Given the description of an element on the screen output the (x, y) to click on. 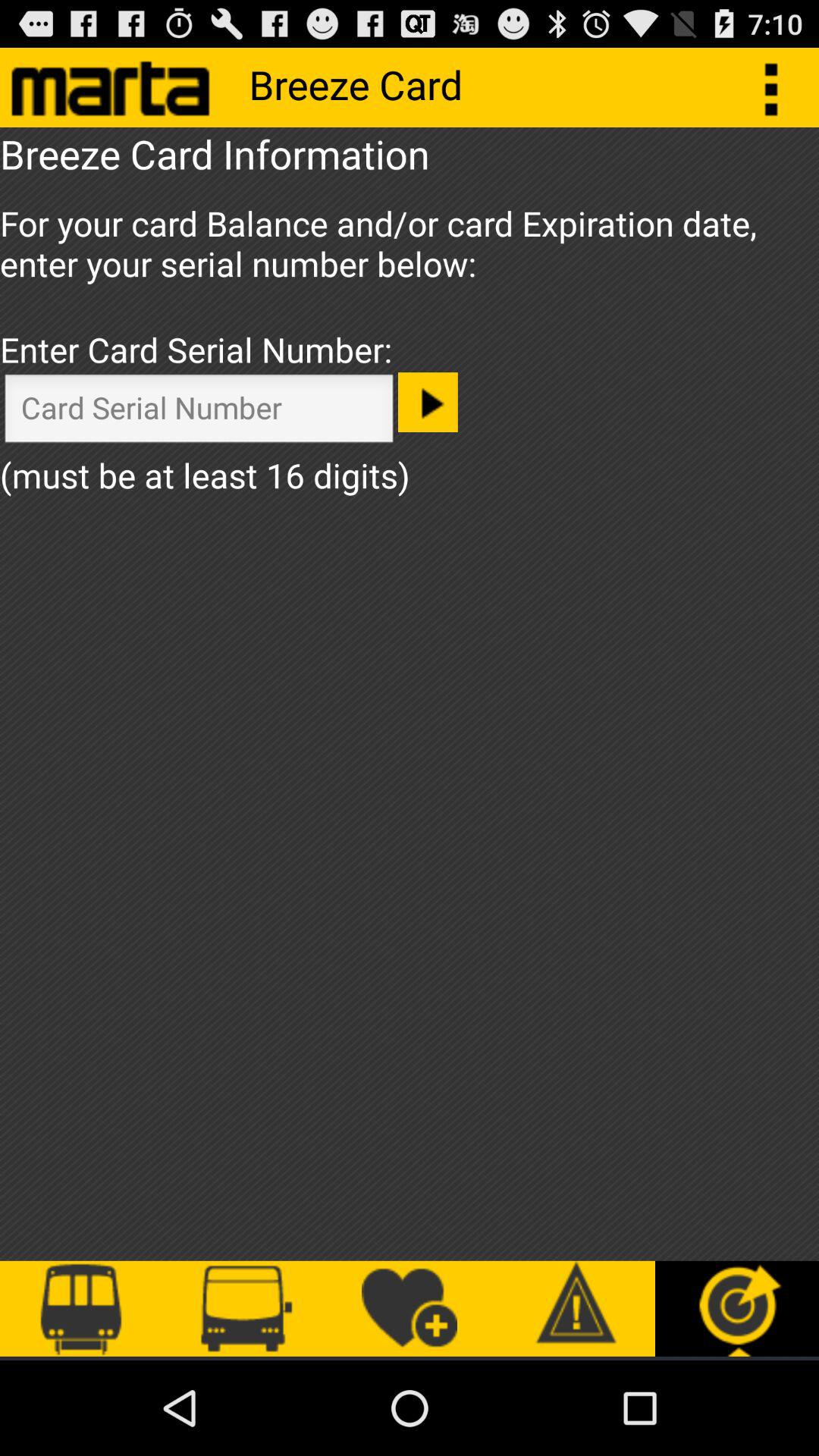
go to search (199, 412)
